Given the description of an element on the screen output the (x, y) to click on. 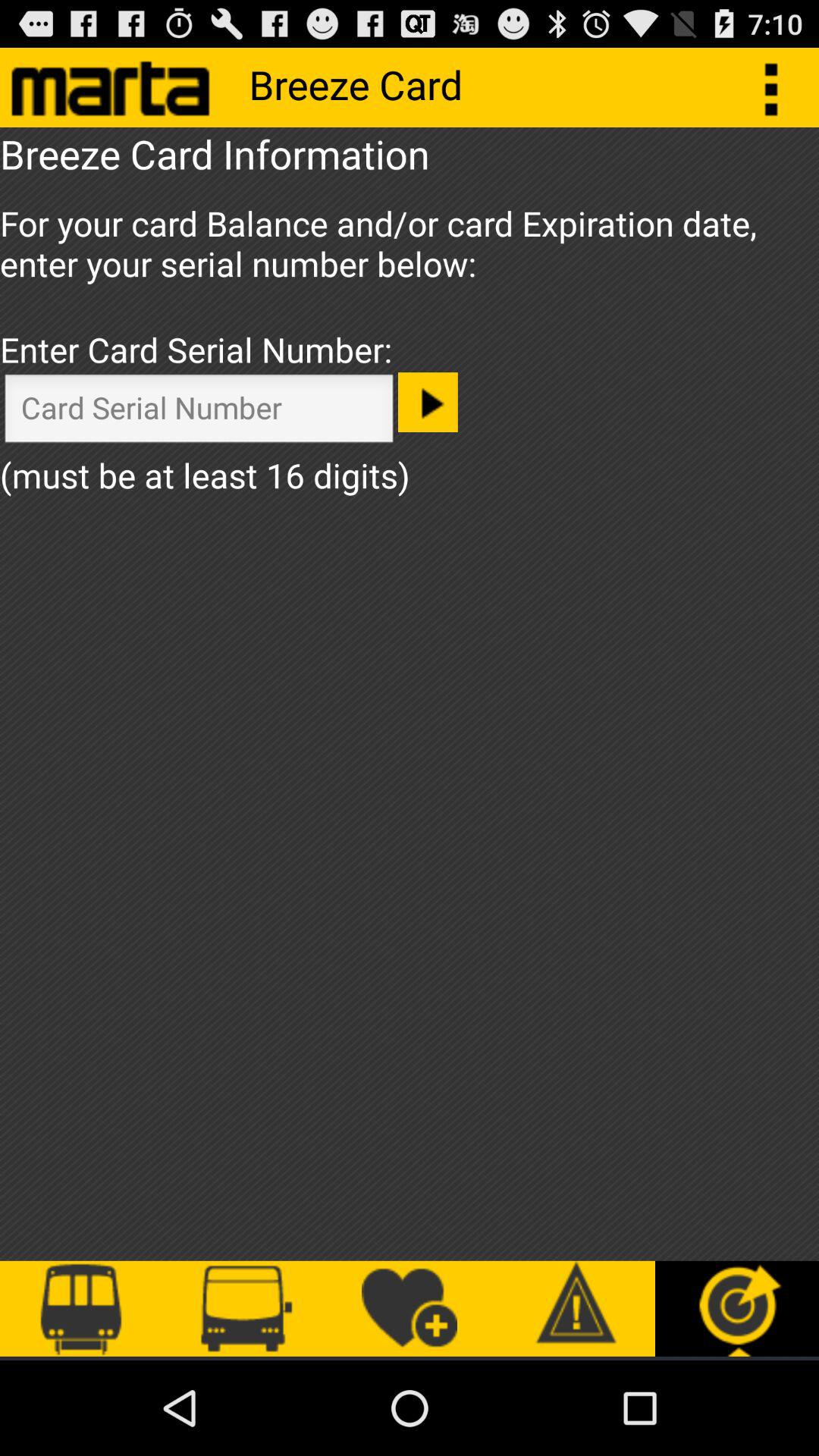
go to search (199, 412)
